Given the description of an element on the screen output the (x, y) to click on. 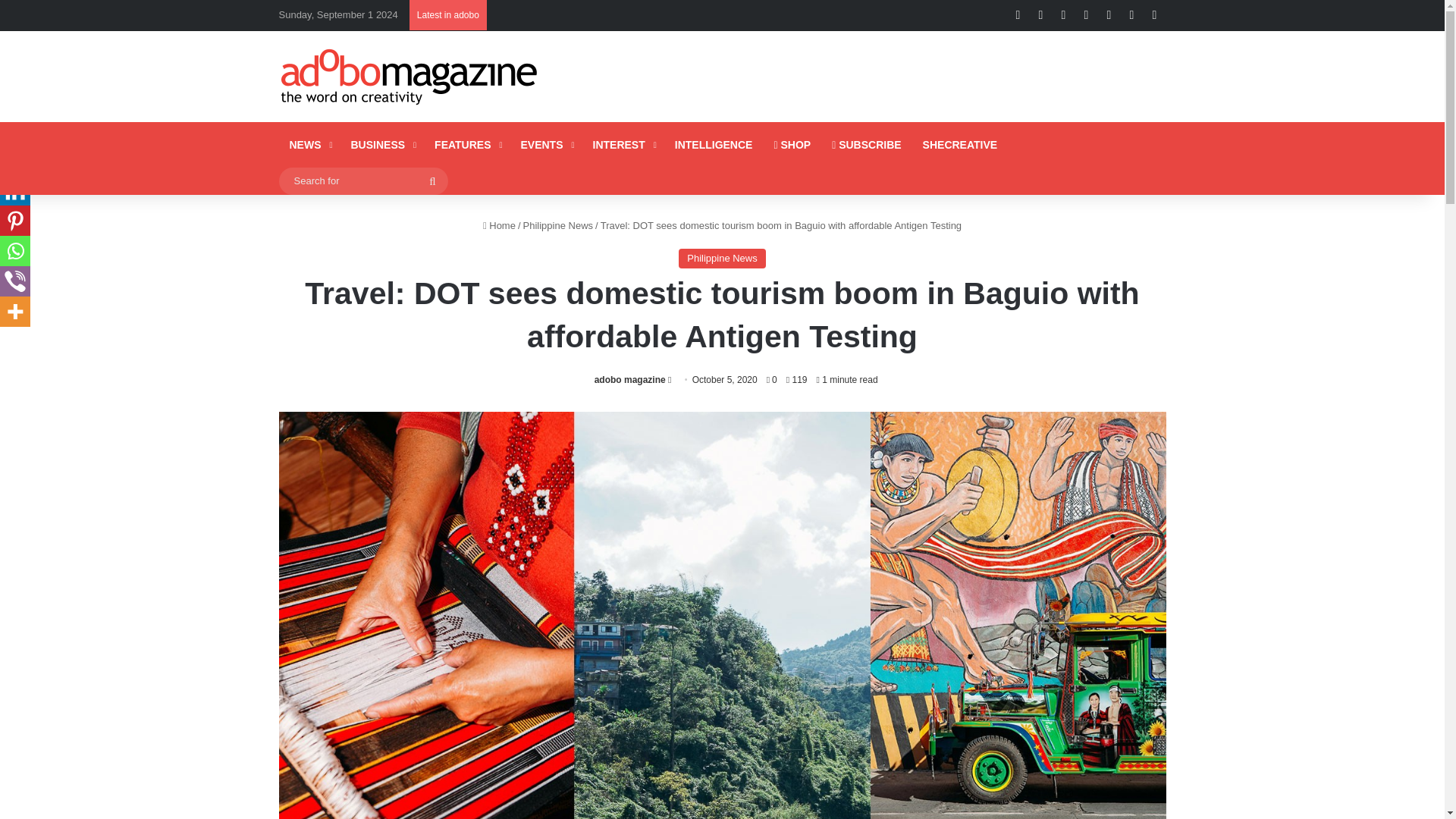
Search for (363, 180)
INTEREST (622, 144)
EVENTS (544, 144)
BUSINESS (381, 144)
adobo magazine (629, 379)
adobo Magazine Online (409, 76)
NEWS (309, 144)
FEATURES (466, 144)
